Given the description of an element on the screen output the (x, y) to click on. 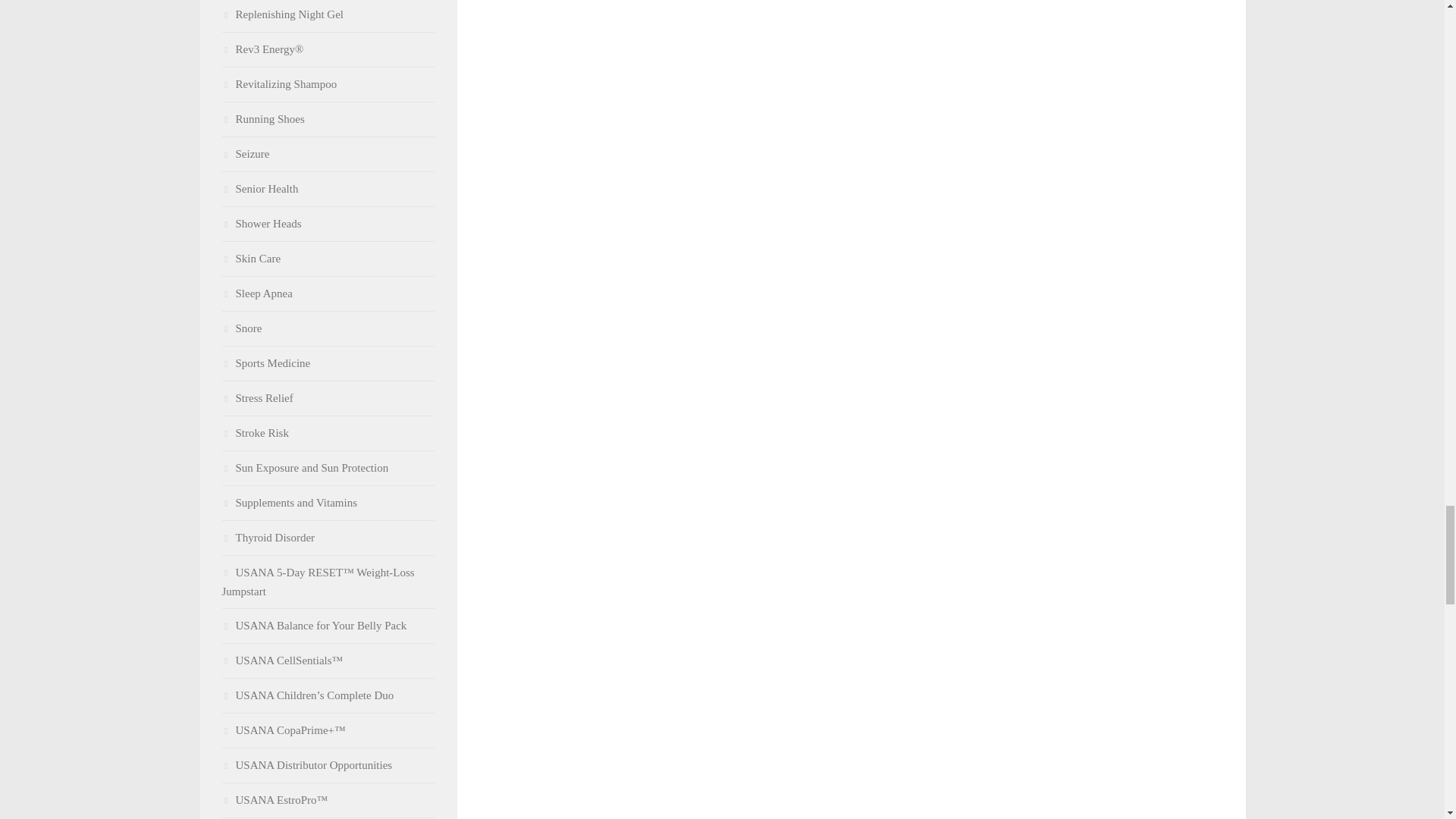
Become A USANA Independent Distributor (306, 765)
